Given the description of an element on the screen output the (x, y) to click on. 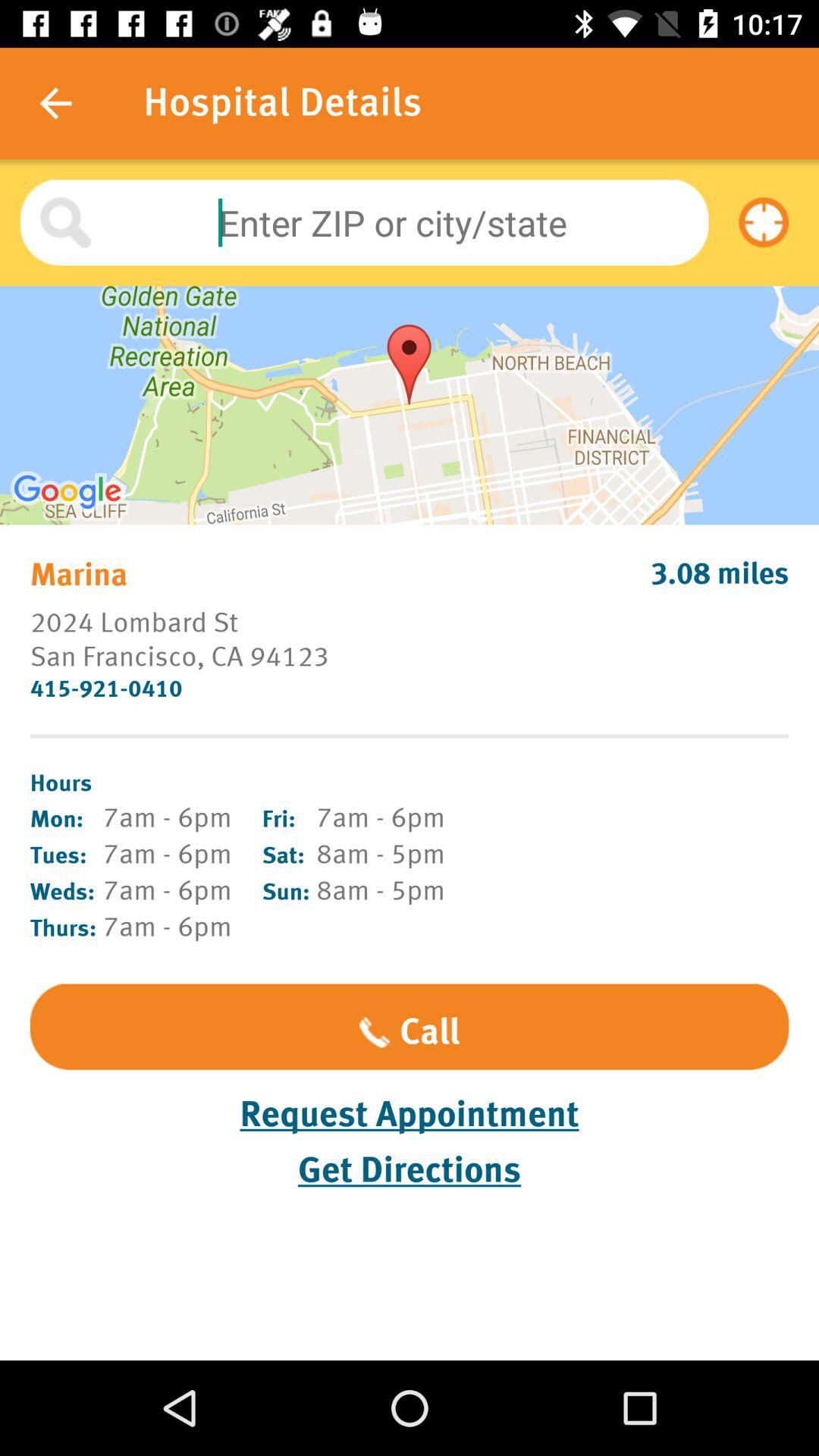
turn on request appointment item (409, 1114)
